Given the description of an element on the screen output the (x, y) to click on. 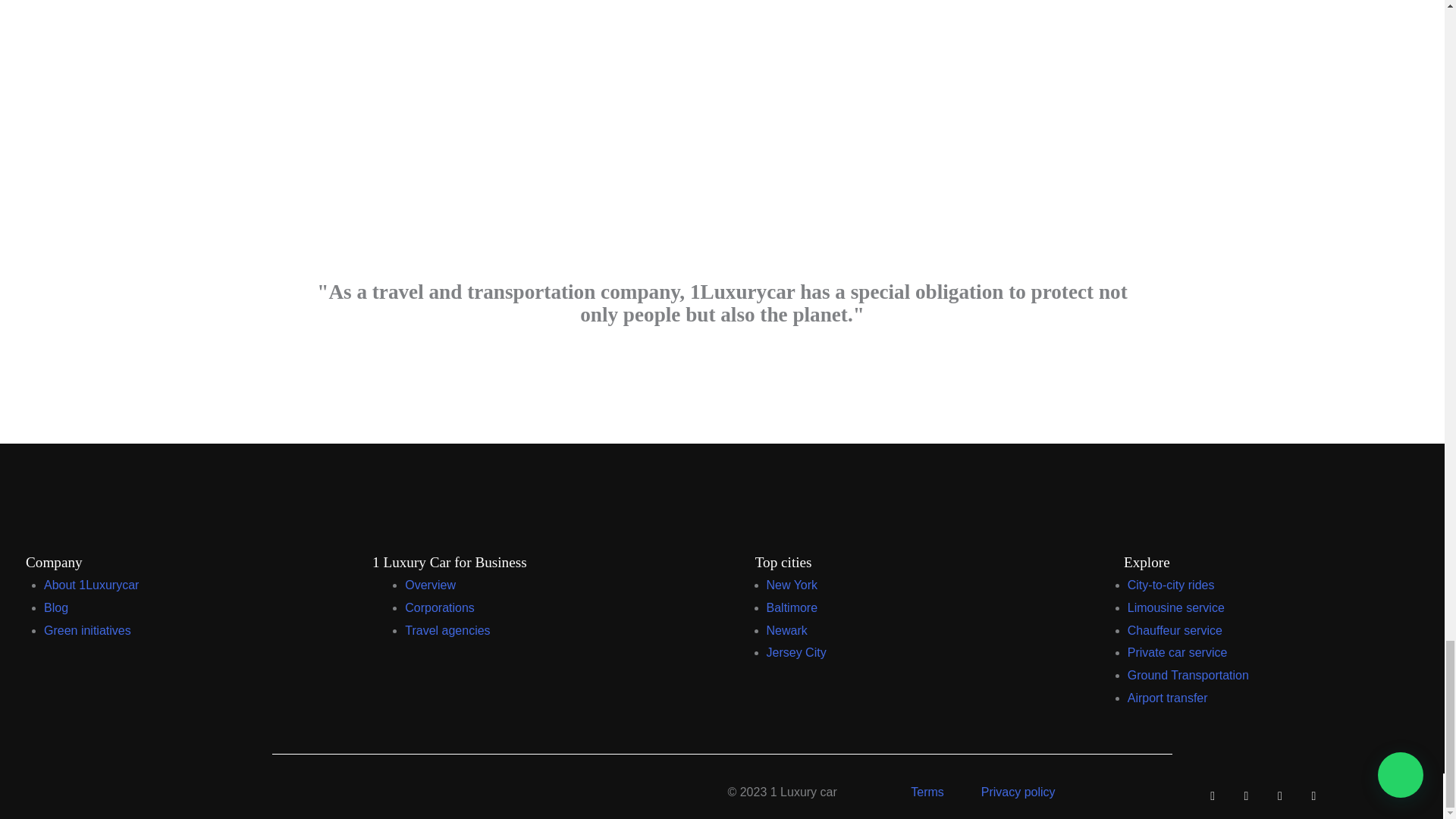
New York (790, 584)
Newark (785, 630)
Privacy policy (1018, 791)
Limousine service (1175, 607)
Airport transfer (1167, 697)
Blog (55, 607)
Travel agencies (446, 630)
About 1Luxurycar (90, 584)
Jersey City (795, 652)
Ground Transportation (1187, 675)
City-to-city rides (1170, 584)
Private car service (1176, 652)
Corporations (439, 607)
Terms (927, 791)
Overview (429, 584)
